Given the description of an element on the screen output the (x, y) to click on. 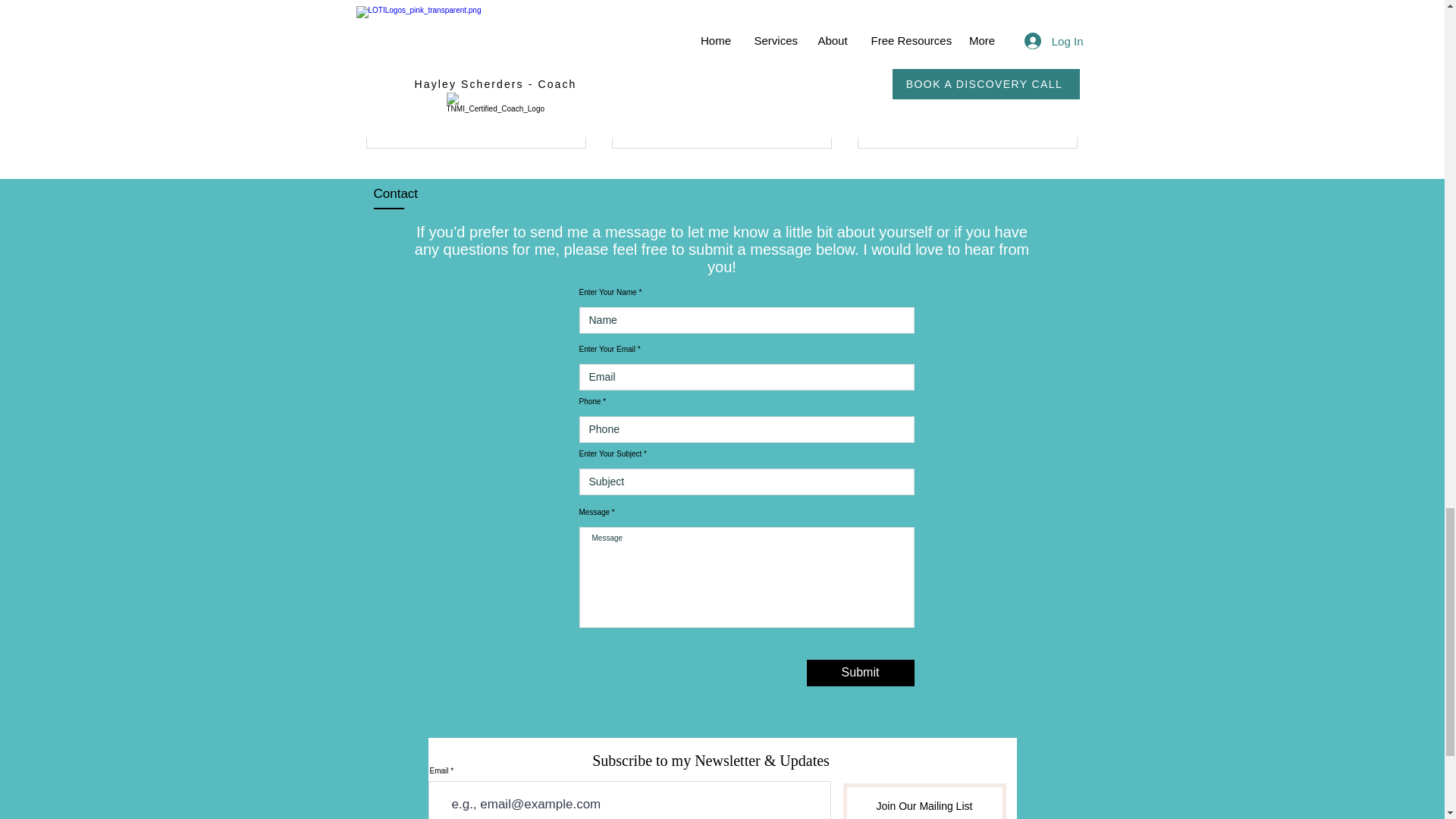
A Little Backstory (476, 61)
Meet Betty Lou. Harmonic Healing. (721, 69)
0 (445, 122)
Things I've Learned Since You've Been Gone (967, 69)
2 (555, 122)
Join Our Mailing List (937, 122)
Submit (924, 800)
0 (860, 673)
